Given the description of an element on the screen output the (x, y) to click on. 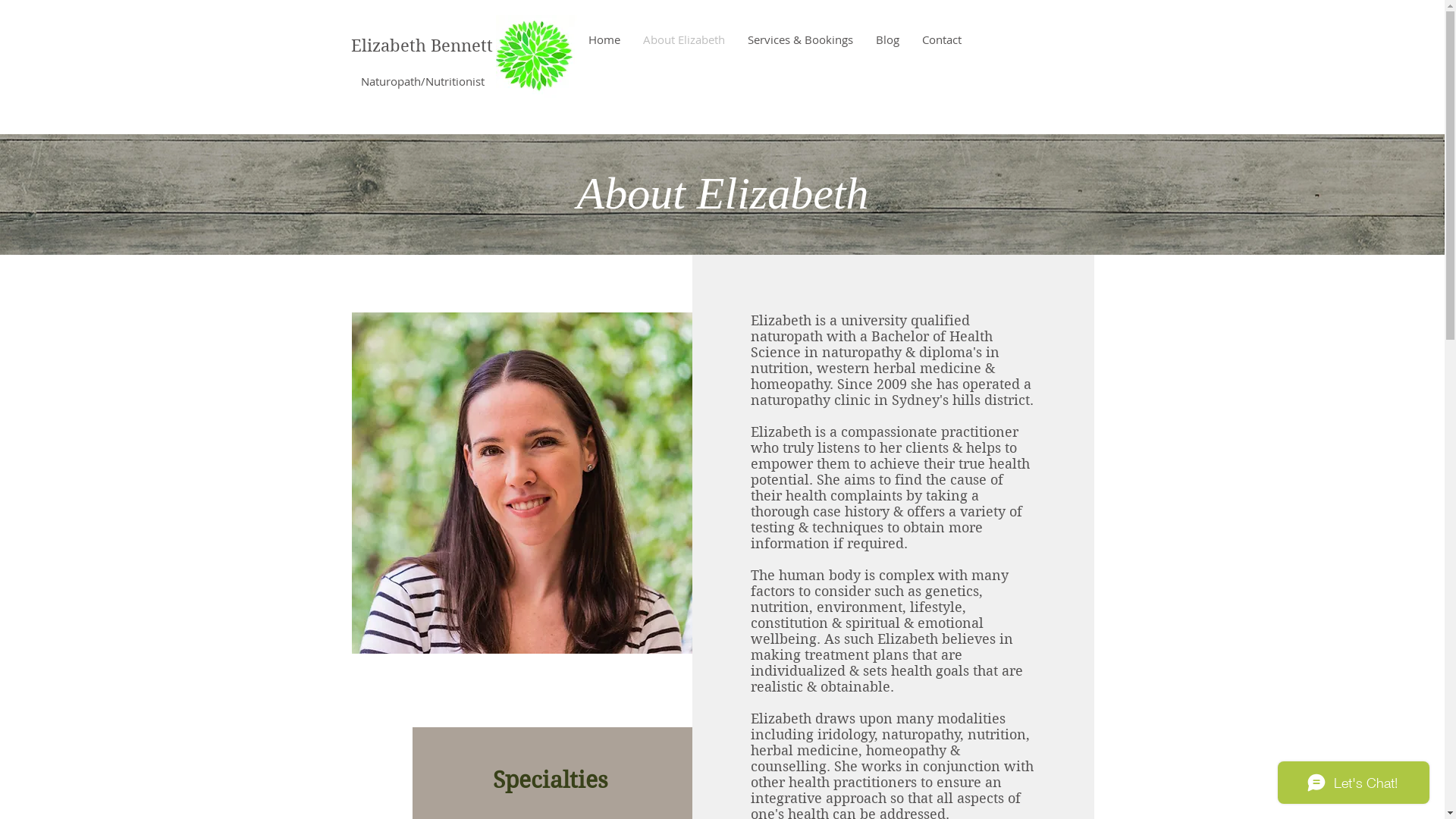
_MG_7385.jpg Element type: hover (521, 482)
Blog Element type: text (887, 39)
Services & Bookings Element type: text (799, 39)
Home Element type: text (603, 39)
Contact Element type: text (941, 39)
About Elizabeth Element type: text (682, 39)
